Given the description of an element on the screen output the (x, y) to click on. 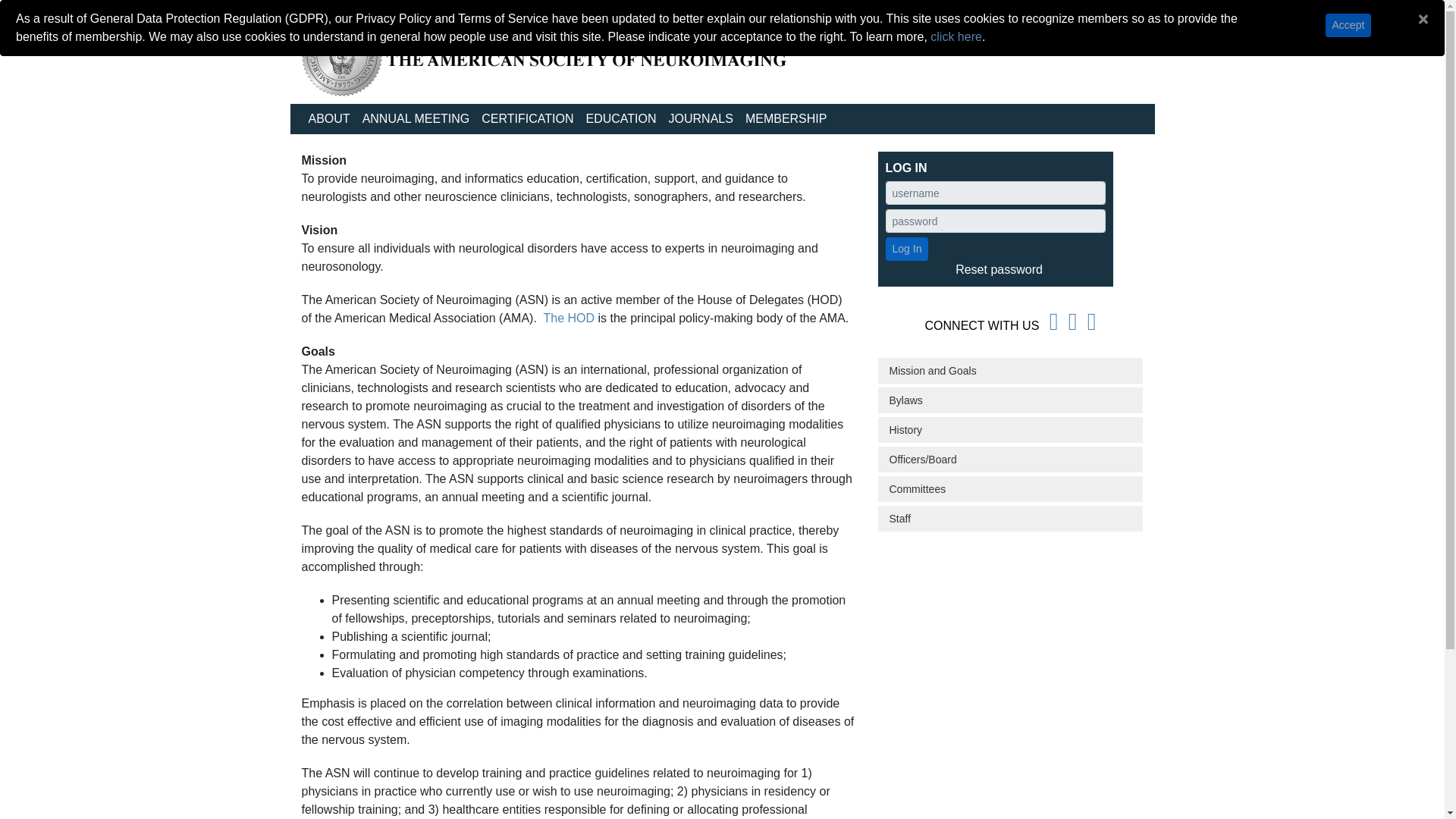
ANNUAL MEETING (416, 119)
JOIN (1085, 28)
ABOUT (328, 119)
DONATE (1029, 28)
CERTIFICATION (527, 119)
EDUCATION (620, 119)
